Given the description of an element on the screen output the (x, y) to click on. 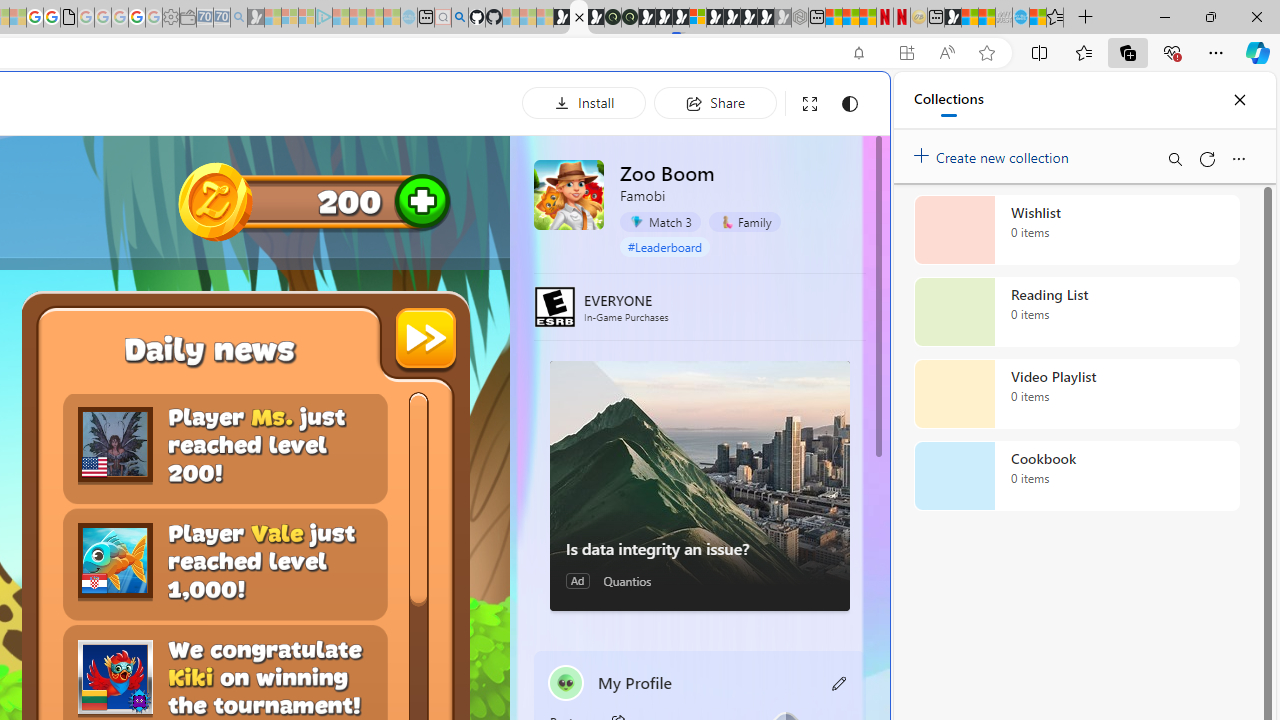
google_privacy_policy_zh-CN.pdf (68, 17)
Zoo Boom (568, 194)
Sign in to your account (697, 17)
World - MSN (969, 17)
Wallet - Sleeping (187, 17)
""'s avatar (565, 682)
Reading List collection, 0 items (1076, 312)
Microsoft Start Gaming - Sleeping (255, 17)
More options menu (1238, 158)
